Given the description of an element on the screen output the (x, y) to click on. 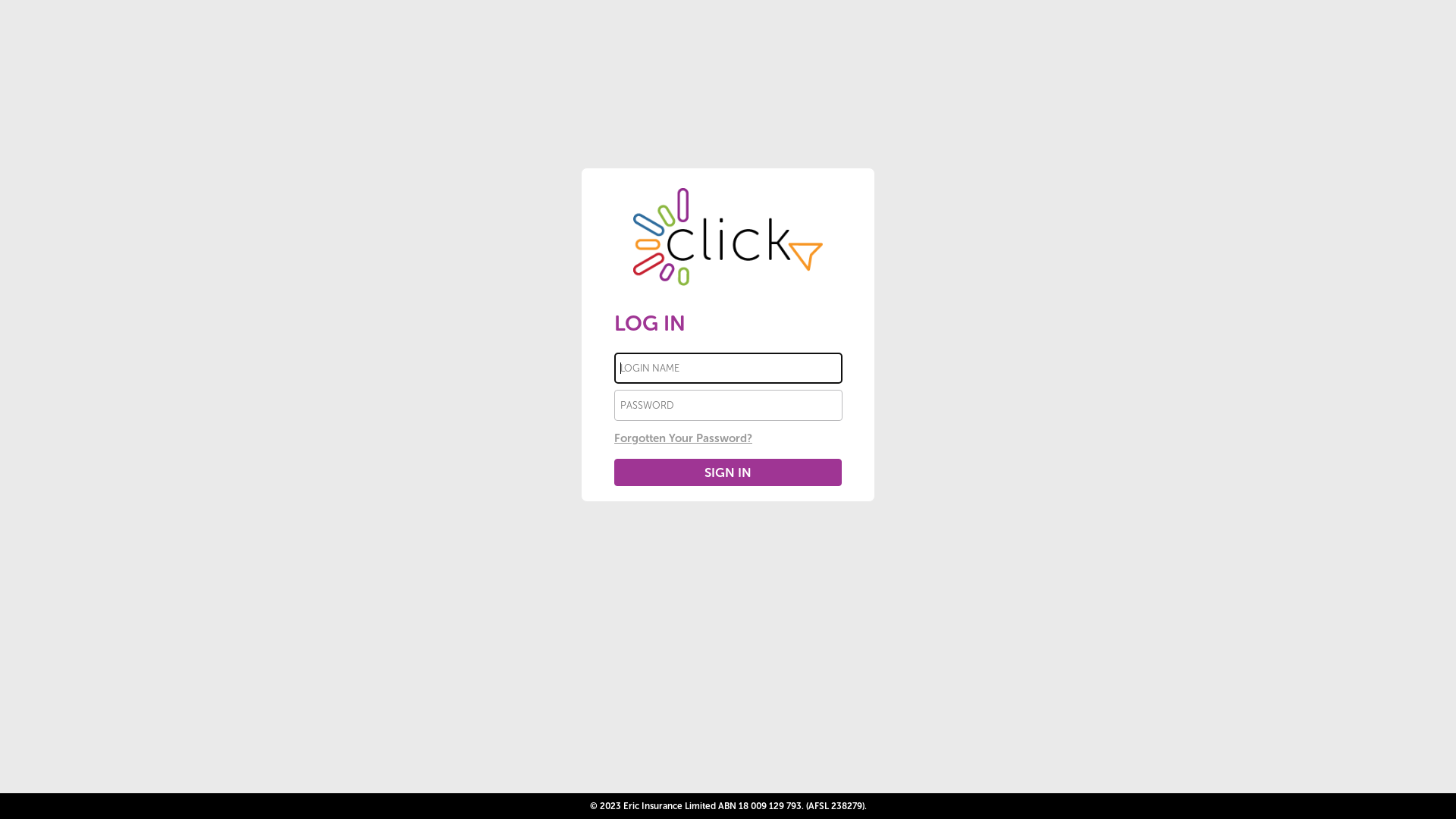
Sign In Element type: text (727, 472)
Forgotten Your Password? Element type: text (683, 438)
